Given the description of an element on the screen output the (x, y) to click on. 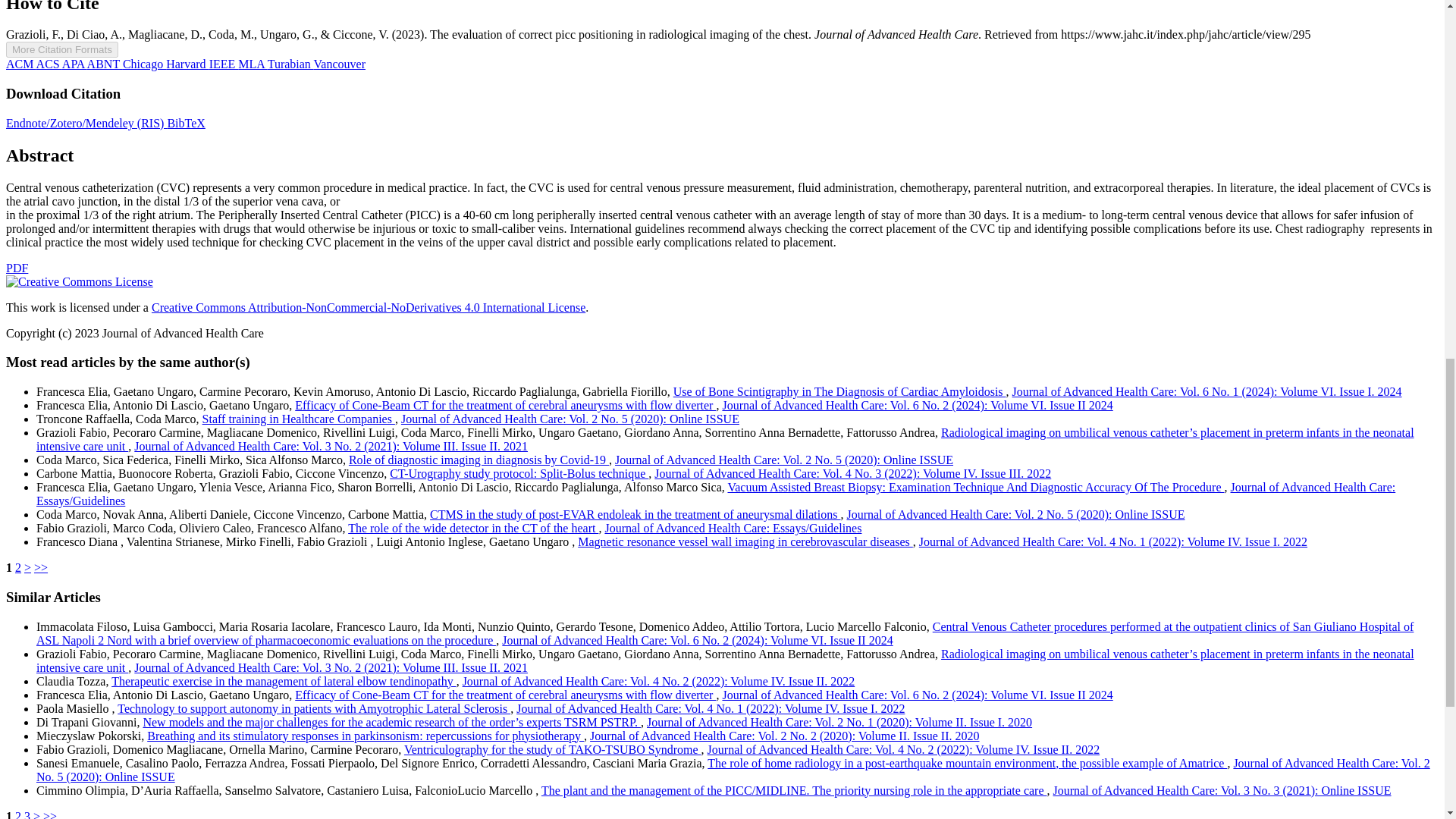
ABNT (104, 63)
IEEE (223, 63)
More Citation Formats (61, 49)
Chicago (143, 63)
MLA (252, 63)
ACS (49, 63)
Turabian (290, 63)
Vancouver (339, 63)
APA (74, 63)
ACM (20, 63)
